Given the description of an element on the screen output the (x, y) to click on. 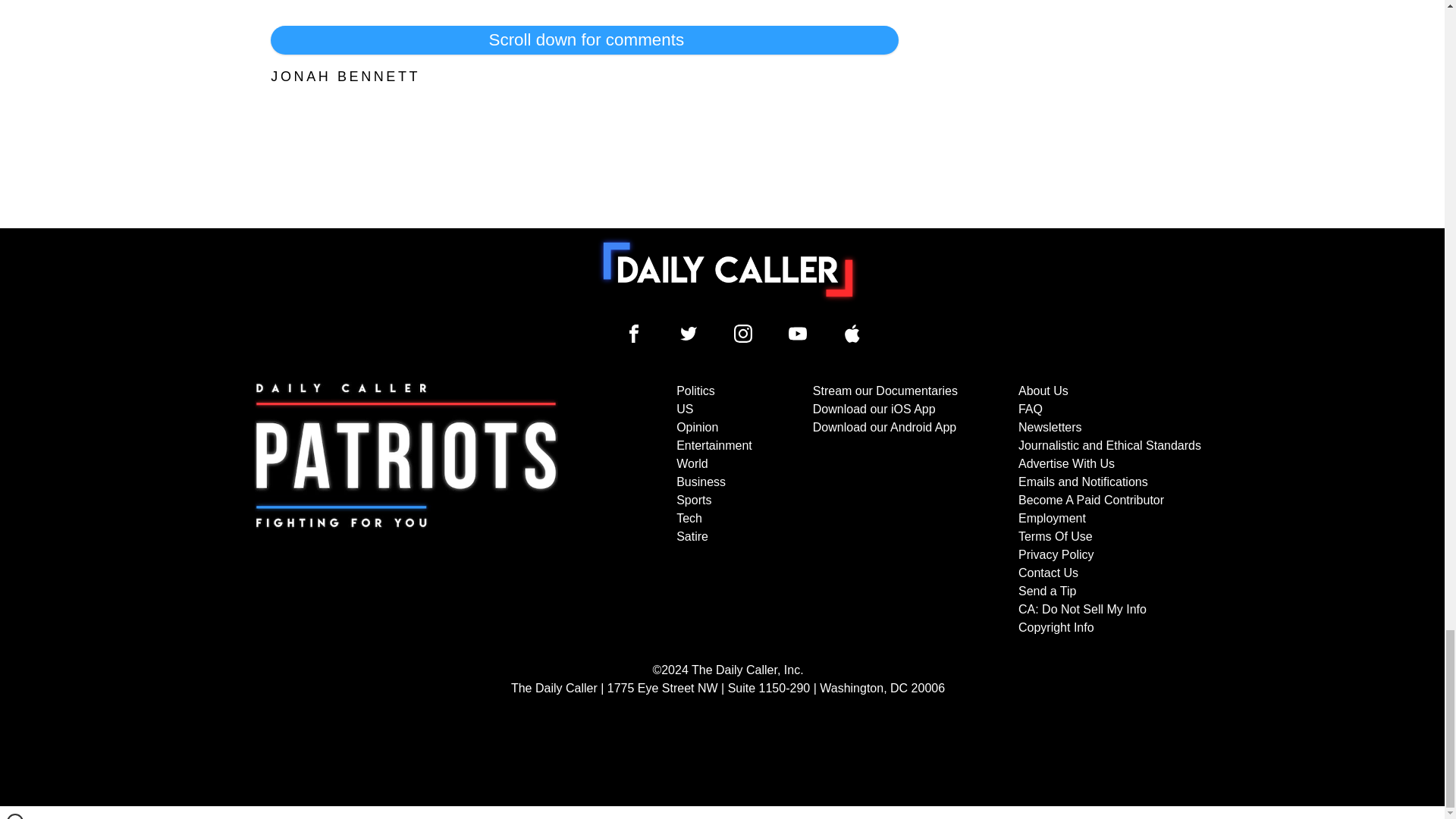
Scroll down for comments (584, 39)
Daily Caller Twitter (688, 333)
Daily Caller YouTube (797, 333)
Daily Caller Instagram (742, 333)
To home page (727, 269)
Subscribe to The Daily Caller (405, 509)
Daily Caller YouTube (852, 333)
Daily Caller Facebook (633, 333)
